Given the description of an element on the screen output the (x, y) to click on. 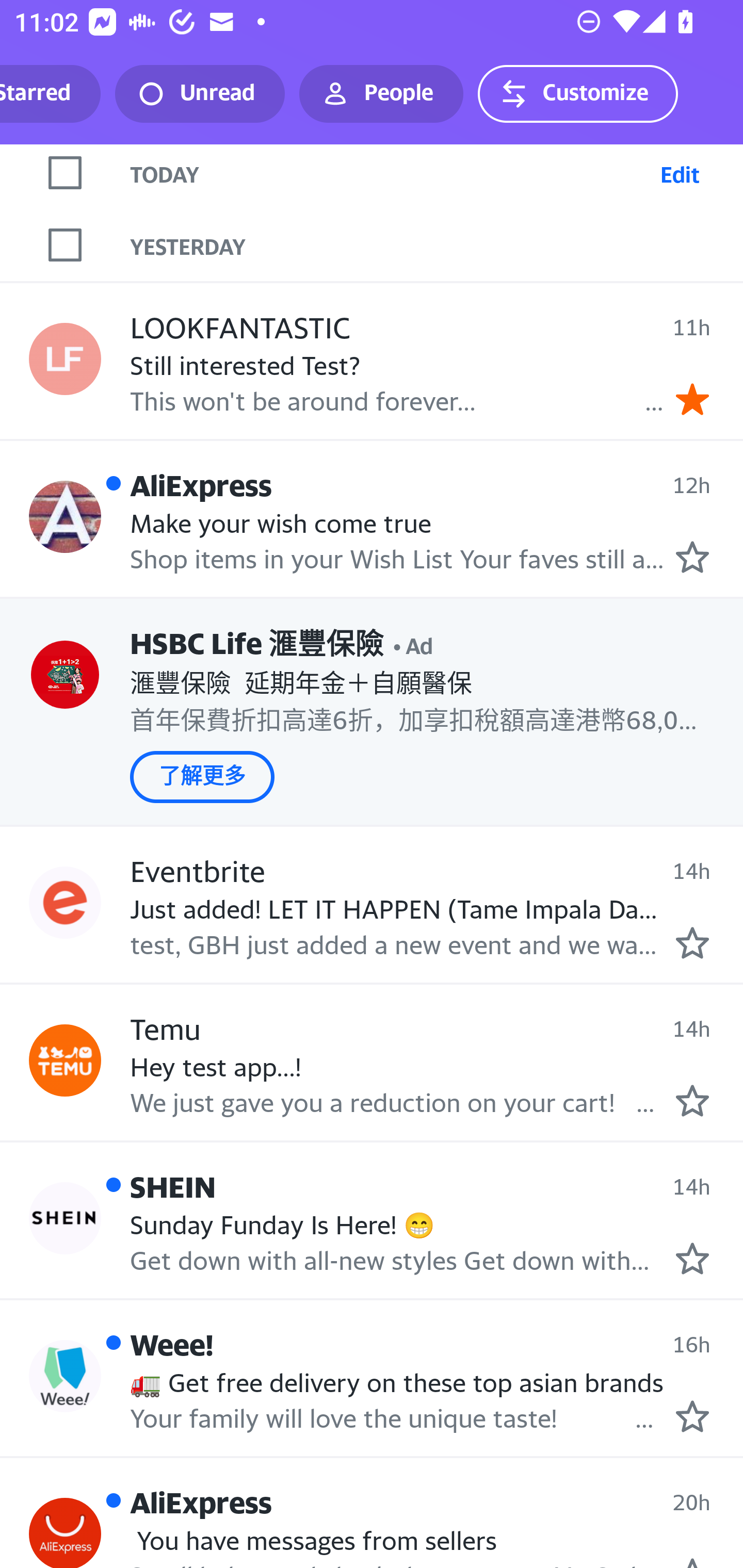
Unread (199, 93)
People (381, 93)
Customize (577, 93)
YESTERDAY (436, 245)
Profile
LOOKFANTASTIC (64, 359)
Remove star. (692, 399)
Profile
AliExpress (64, 517)
Mark as starred. (692, 557)
Profile
Eventbrite (64, 903)
Mark as starred. (692, 943)
Profile
Temu (64, 1059)
Mark as starred. (692, 1099)
Profile
SHEIN (64, 1218)
Mark as starred. (692, 1258)
Profile
Weee! (64, 1376)
Mark as starred. (692, 1416)
Profile
AliExpress (64, 1532)
